Given the description of an element on the screen output the (x, y) to click on. 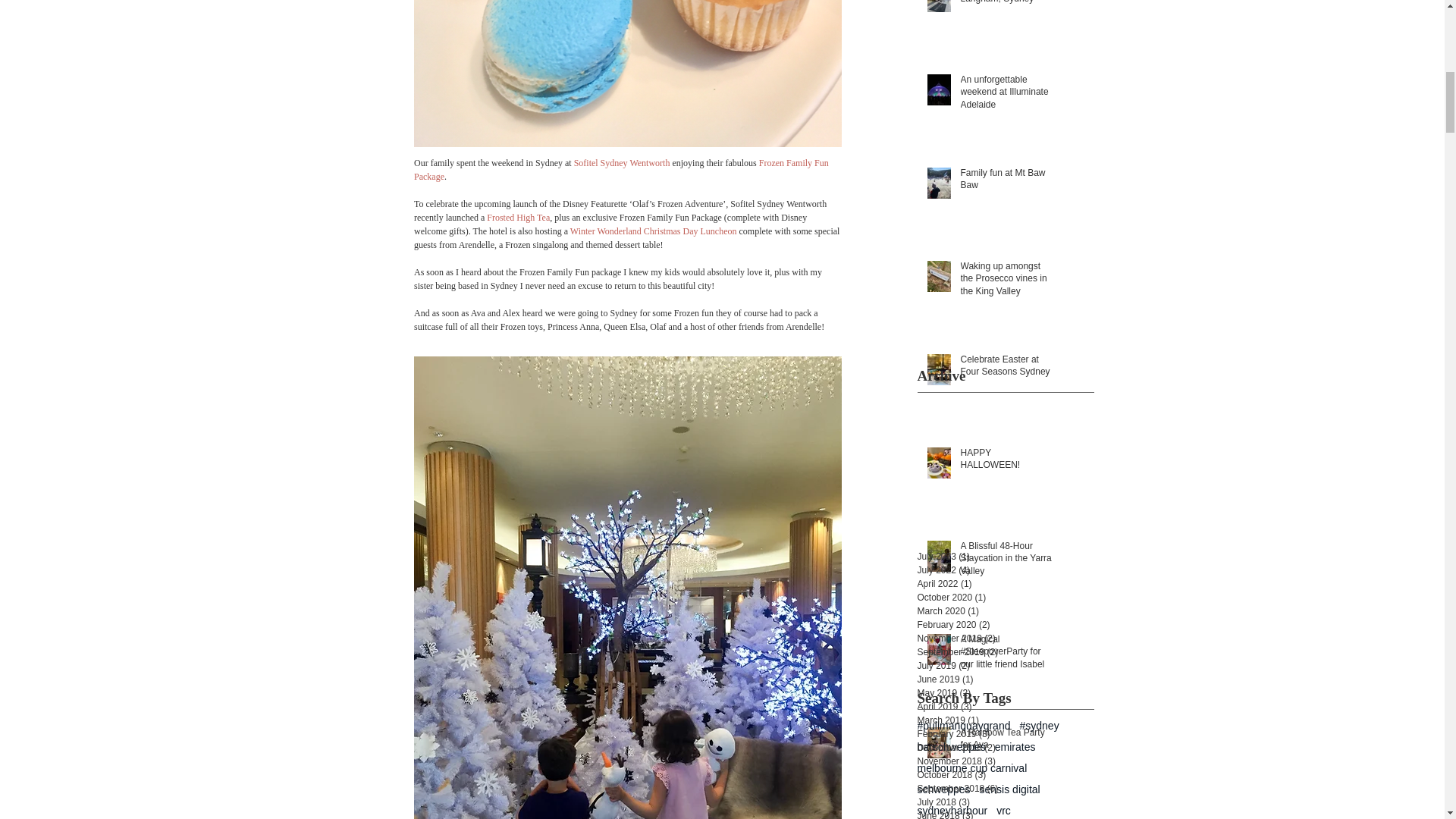
Celebrate Easter at Four Seasons Sydney (1005, 368)
sydneyharbour (952, 810)
Frozen Family Fun Package (622, 169)
barschweppes (951, 746)
A Rainbow Tea Party for Ava (1005, 742)
Family fun at The Langham, Sydney (1005, 6)
vrc (1002, 810)
Family fun at Mt Baw Baw (1005, 183)
emirates (1014, 746)
sensis digital (1010, 788)
